Given the description of an element on the screen output the (x, y) to click on. 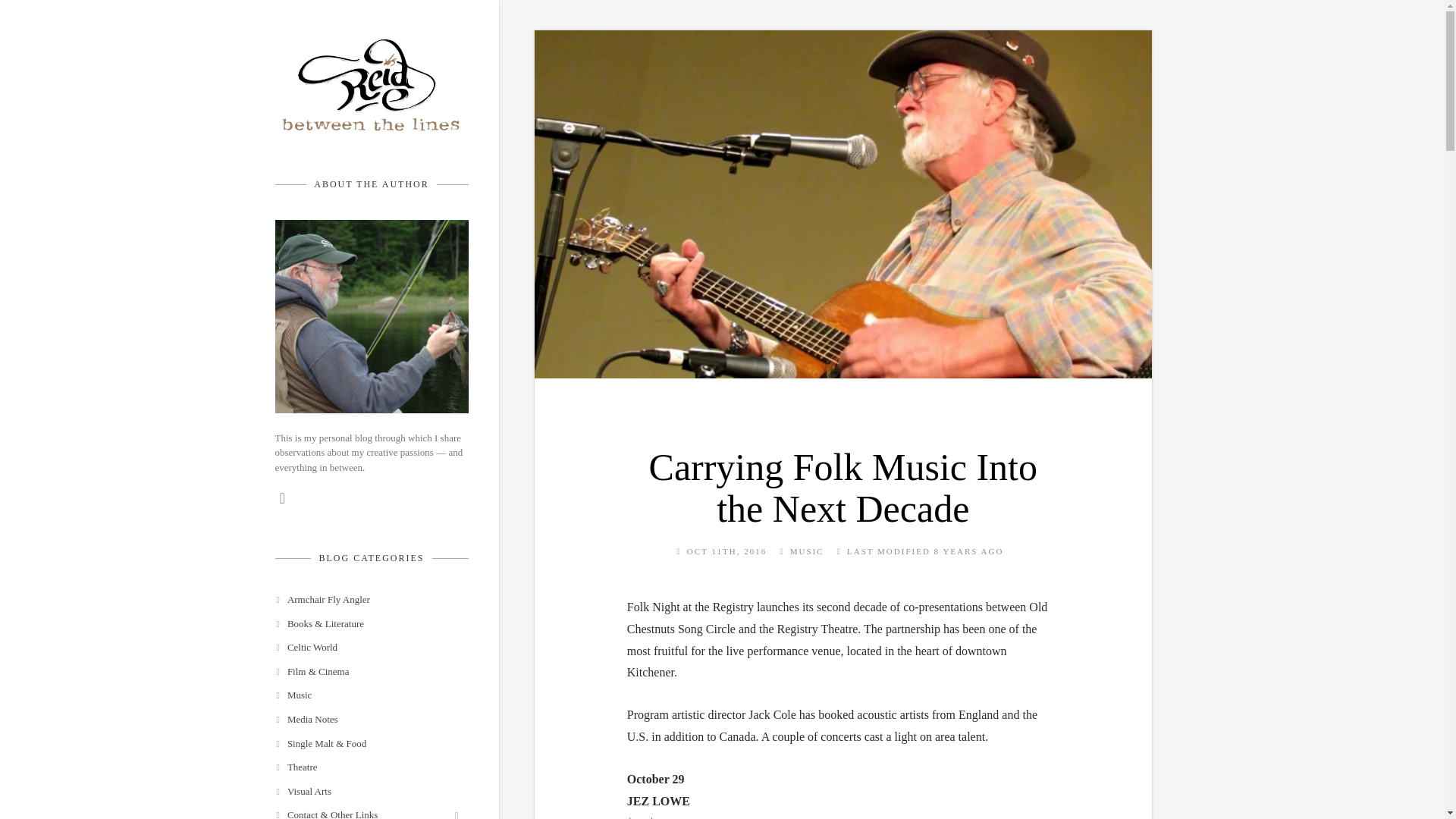
Visual Arts (357, 797)
Celtic World (357, 653)
Armchair Fly Angler (357, 605)
Music (357, 701)
Media Notes (357, 725)
Theatre (357, 773)
MUSIC (807, 551)
